Given the description of an element on the screen output the (x, y) to click on. 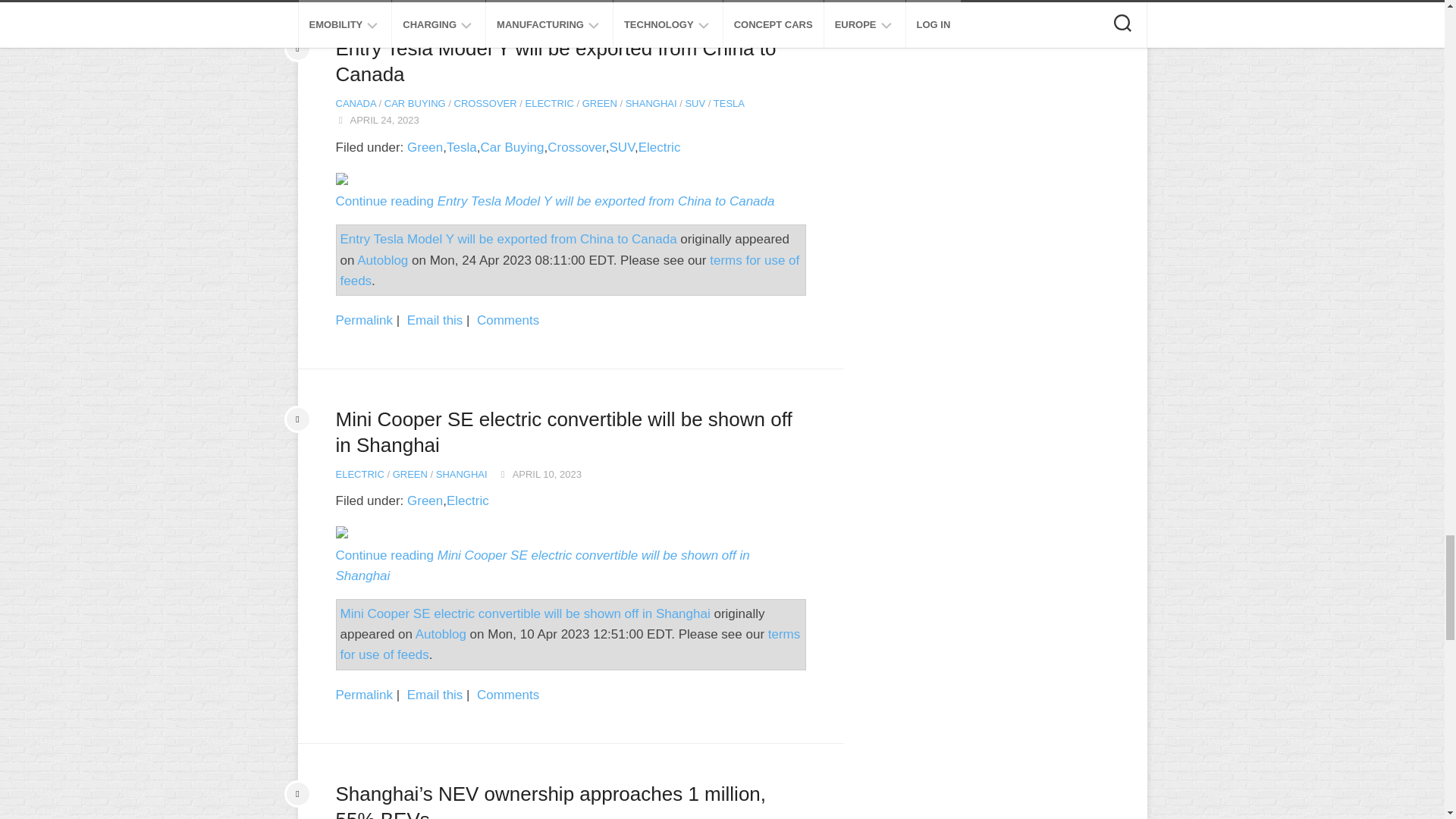
View reader comments on this entry (507, 319)
Permanent link to this entry (363, 694)
View reader comments on this entry (507, 694)
Permanent link to this entry (363, 319)
Send this entry to a friend via email (435, 319)
Send this entry to a friend via email (435, 694)
